Given the description of an element on the screen output the (x, y) to click on. 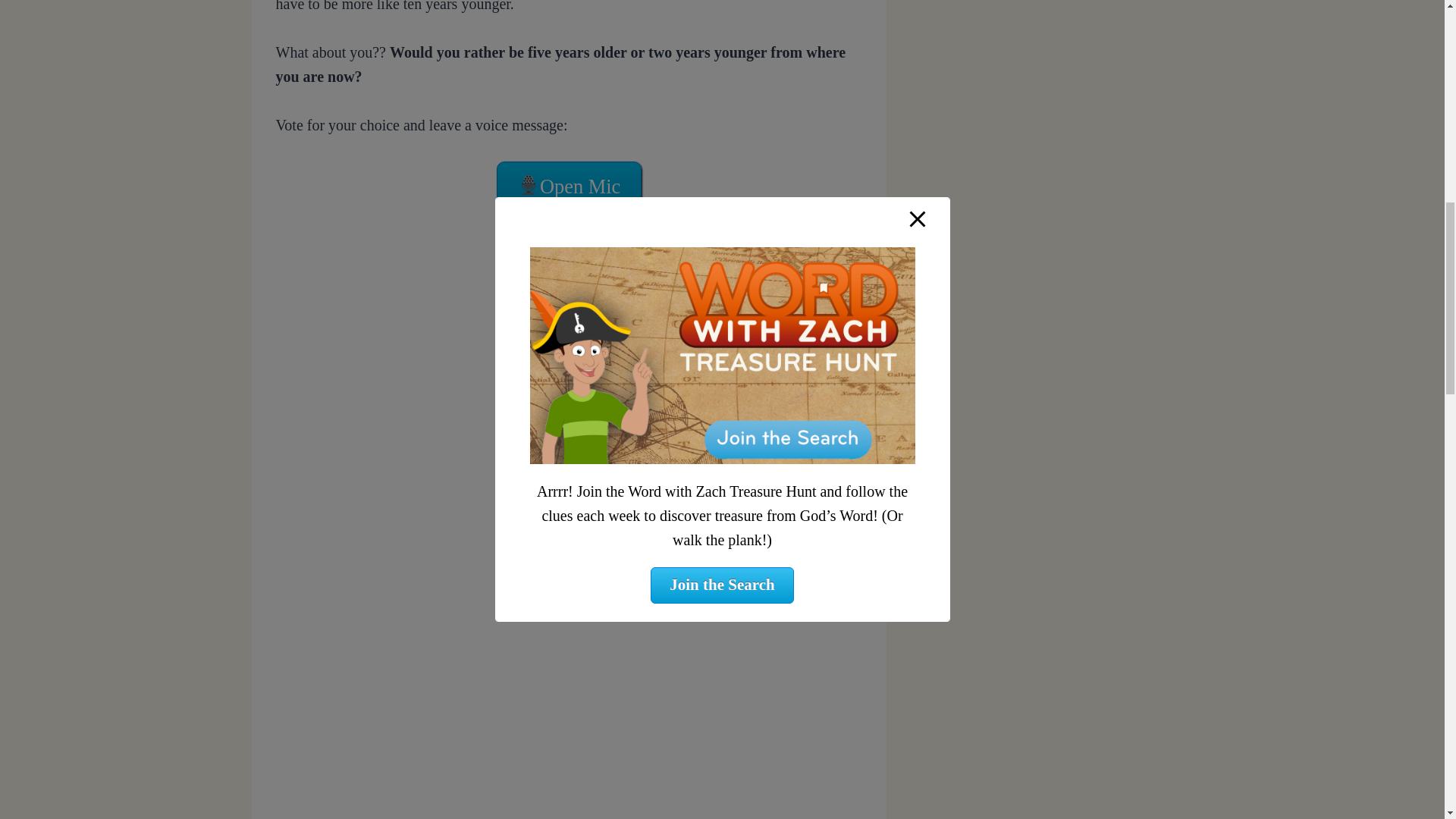
Open Mic (568, 185)
